Given the description of an element on the screen output the (x, y) to click on. 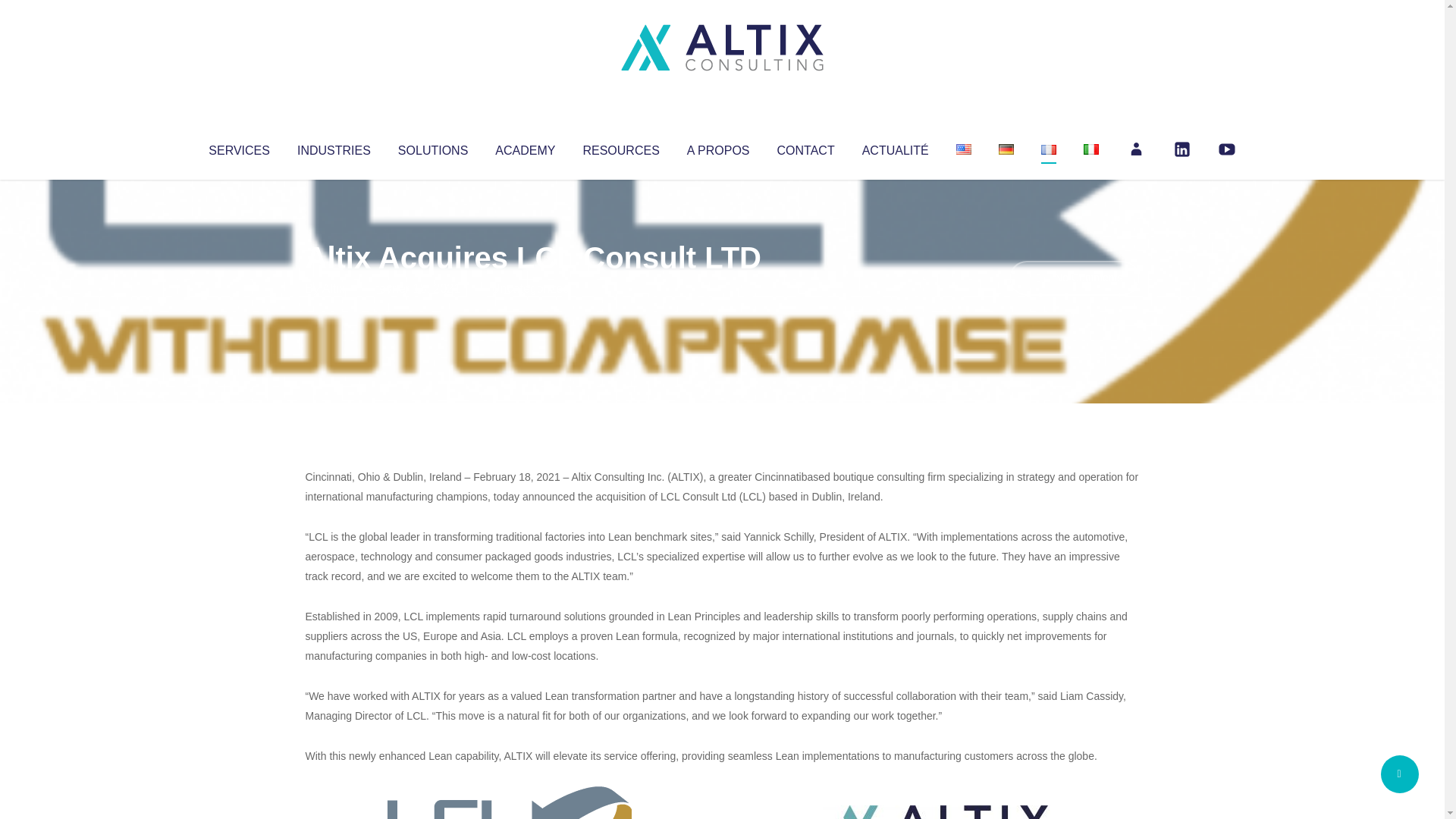
Altix (333, 287)
SOLUTIONS (432, 146)
No Comments (1073, 278)
INDUSTRIES (334, 146)
SERVICES (238, 146)
Articles par Altix (333, 287)
ACADEMY (524, 146)
Uncategorized (530, 287)
RESOURCES (620, 146)
A PROPOS (718, 146)
